Given the description of an element on the screen output the (x, y) to click on. 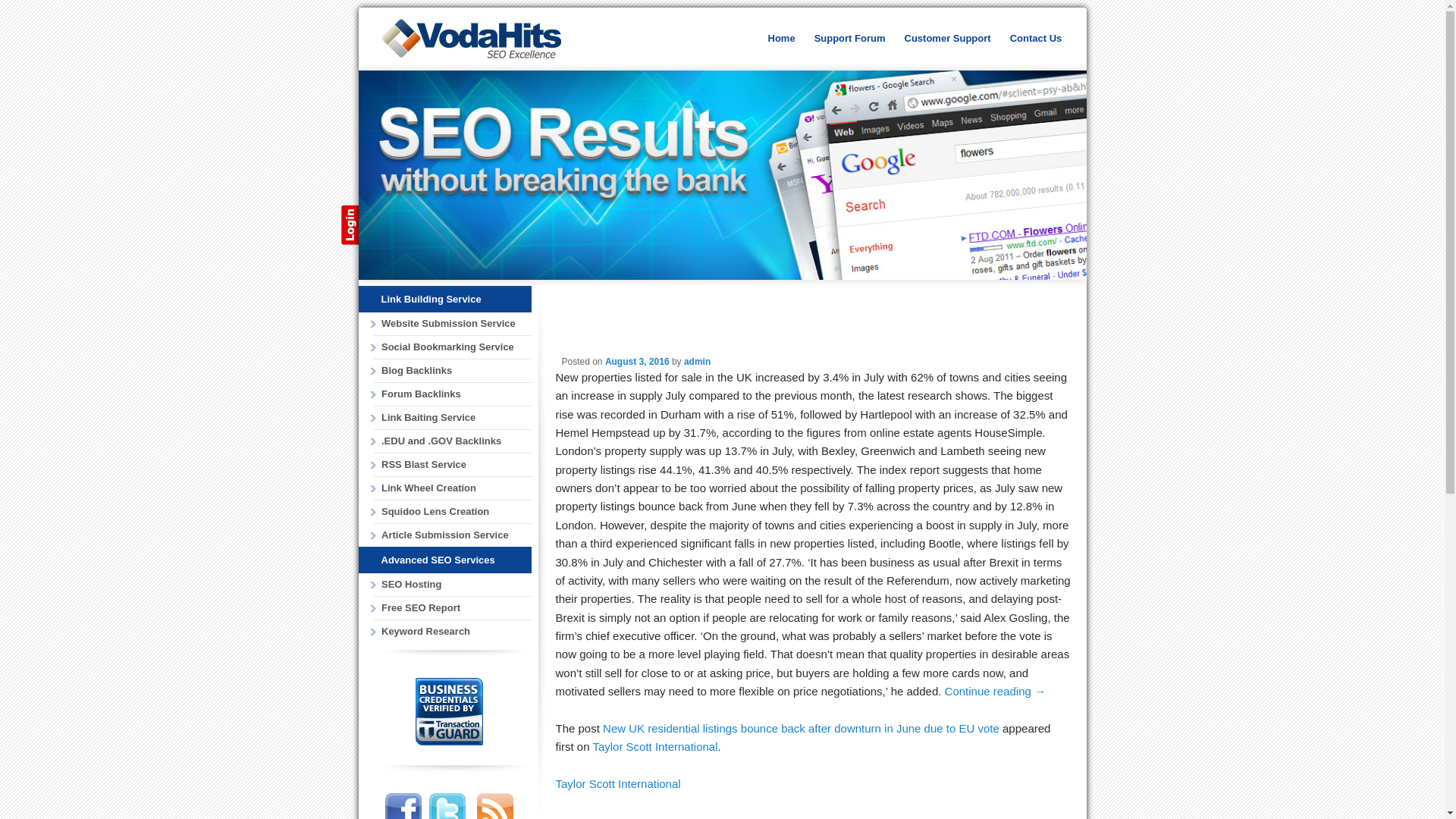
Taylor Scott International (616, 783)
Skip to secondary content (838, 40)
Link Wheel Creation (452, 488)
Link Building Service (430, 298)
View all posts by admin (697, 361)
admin (697, 361)
12:39 pm (637, 361)
VodaHits (485, 40)
Customer Support (947, 38)
Social Bookmarking Service (452, 347)
Secure your online transactions (430, 742)
Website Submission Service (452, 323)
Link Baiting Service (452, 417)
Home (781, 38)
